Given the description of an element on the screen output the (x, y) to click on. 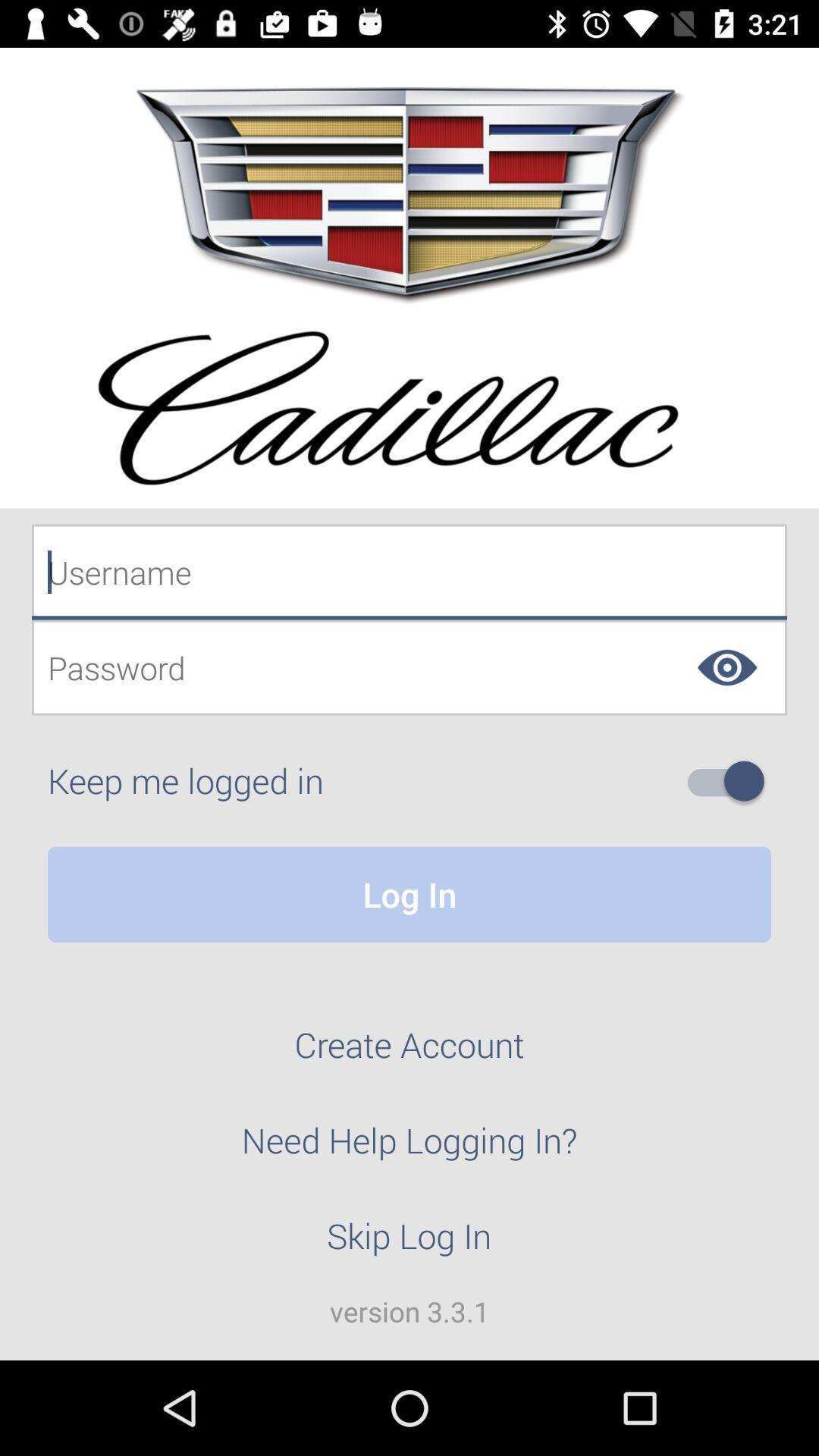
type password box (409, 667)
